Given the description of an element on the screen output the (x, y) to click on. 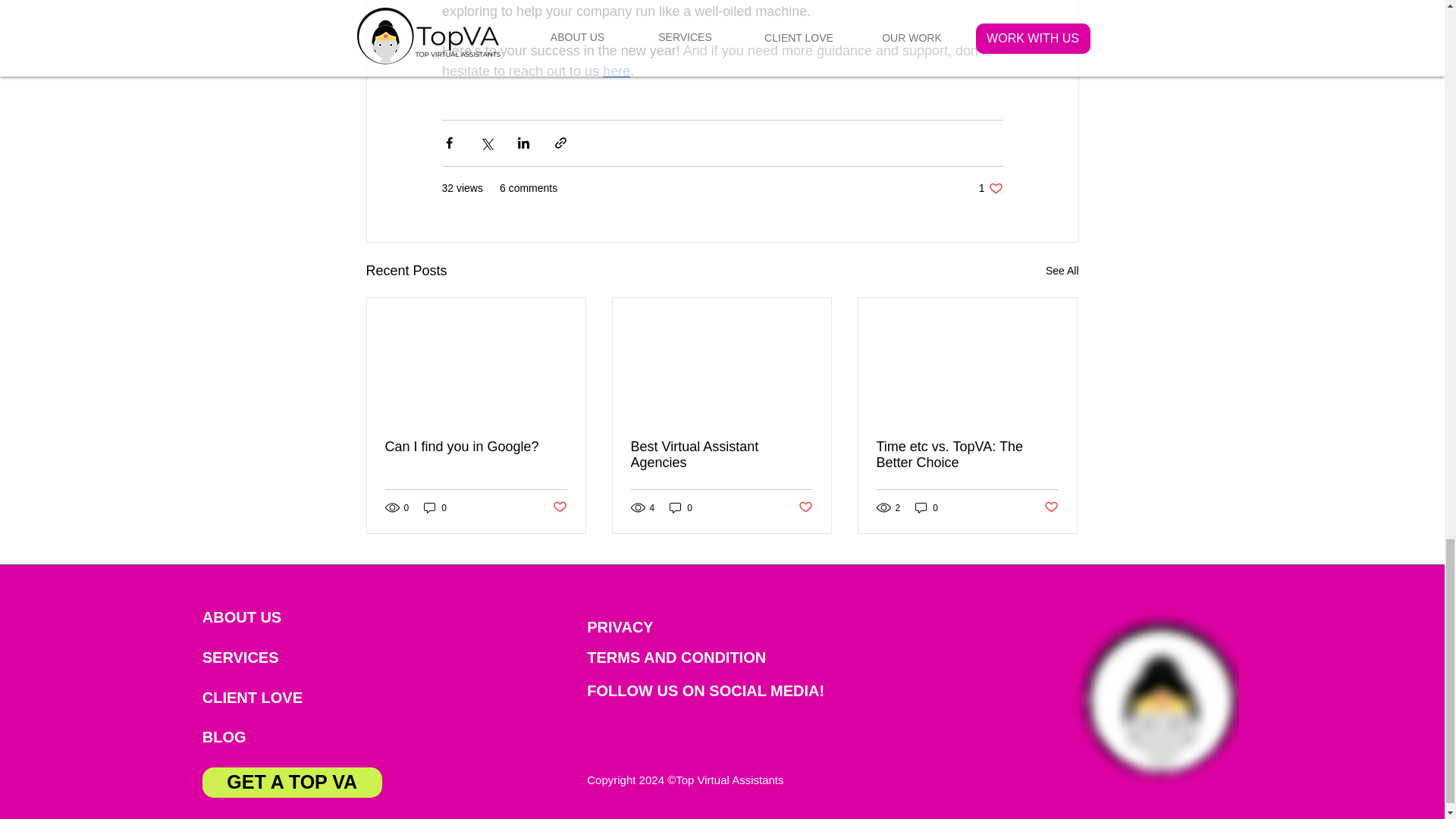
ABOUT US (264, 616)
Post not marked as liked (558, 507)
CLIENT LOVE (263, 697)
here (616, 70)
0 (435, 507)
PRIVACY (648, 626)
Best Virtual Assistant Agencies (721, 454)
Post not marked as liked (804, 507)
BLOG (264, 736)
See All (1061, 270)
GET A TOP VA (291, 782)
0 (681, 507)
0 (926, 507)
Post not marked as liked (990, 187)
